Given the description of an element on the screen output the (x, y) to click on. 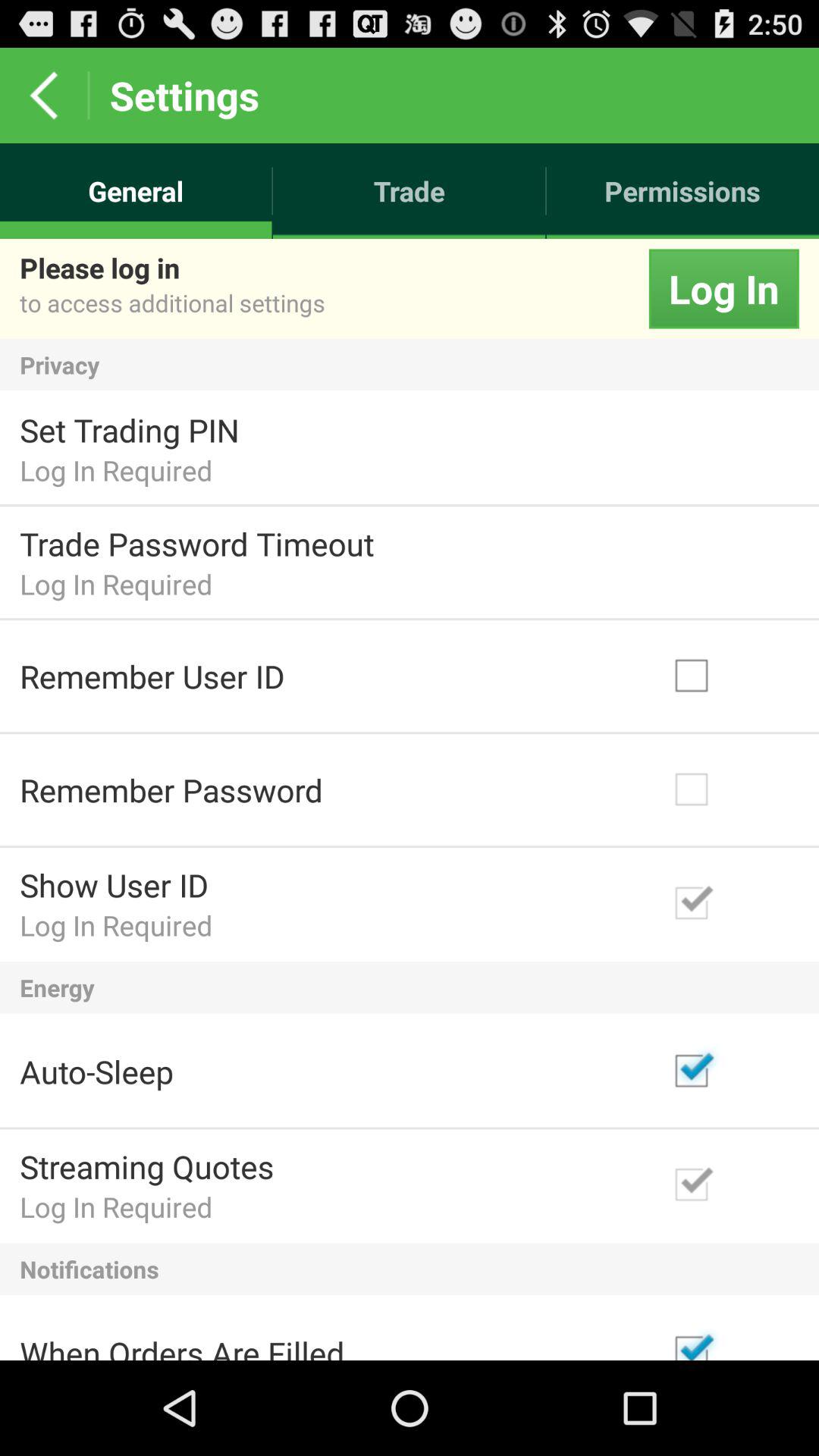
select the icon above general icon (43, 95)
